Given the description of an element on the screen output the (x, y) to click on. 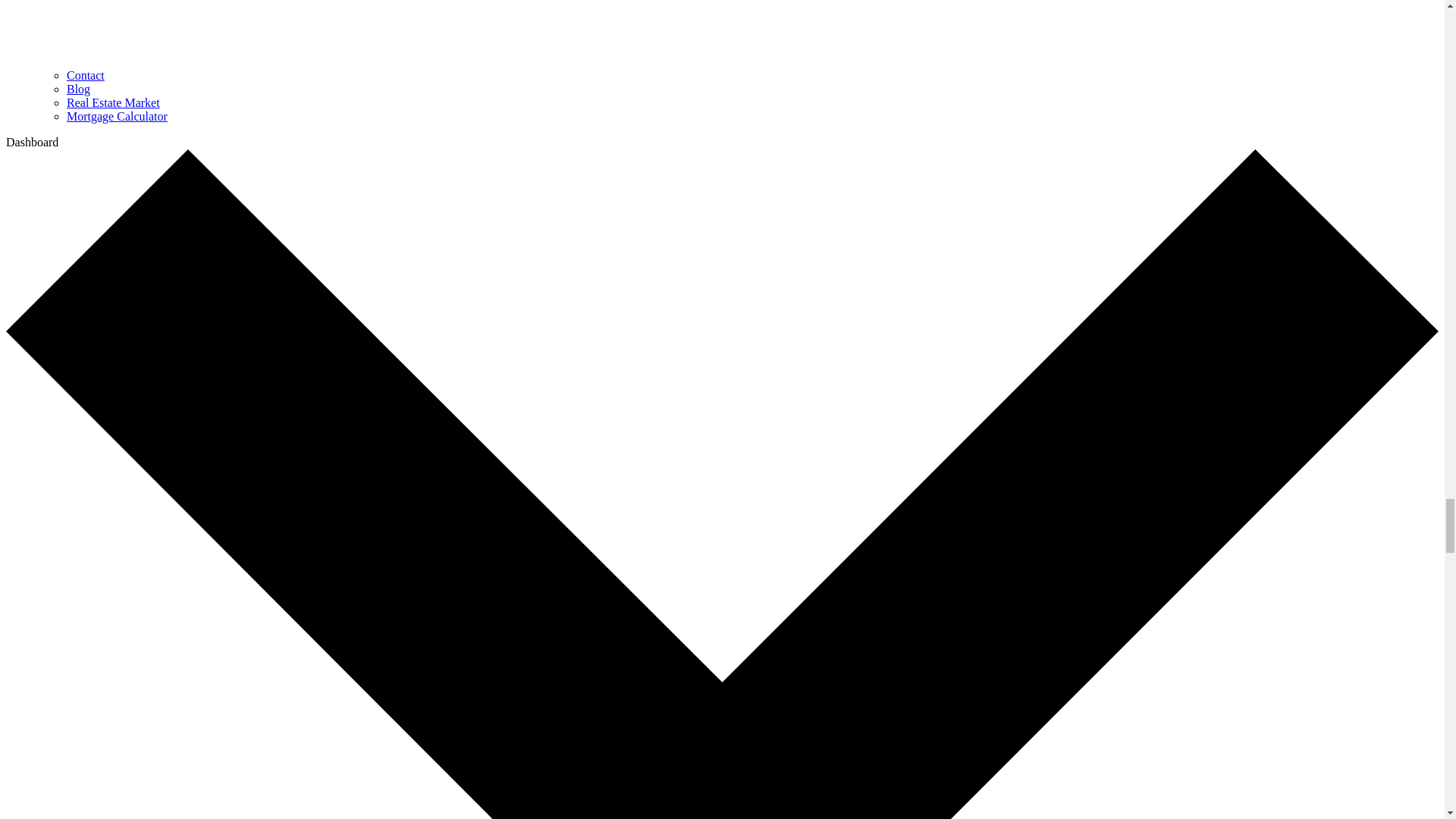
Dashboard (31, 141)
Real Estate Market (113, 102)
Blog (78, 88)
Opens and Closes My Account (31, 141)
Mortgage Calculator (116, 115)
Contact (85, 74)
